Given the description of an element on the screen output the (x, y) to click on. 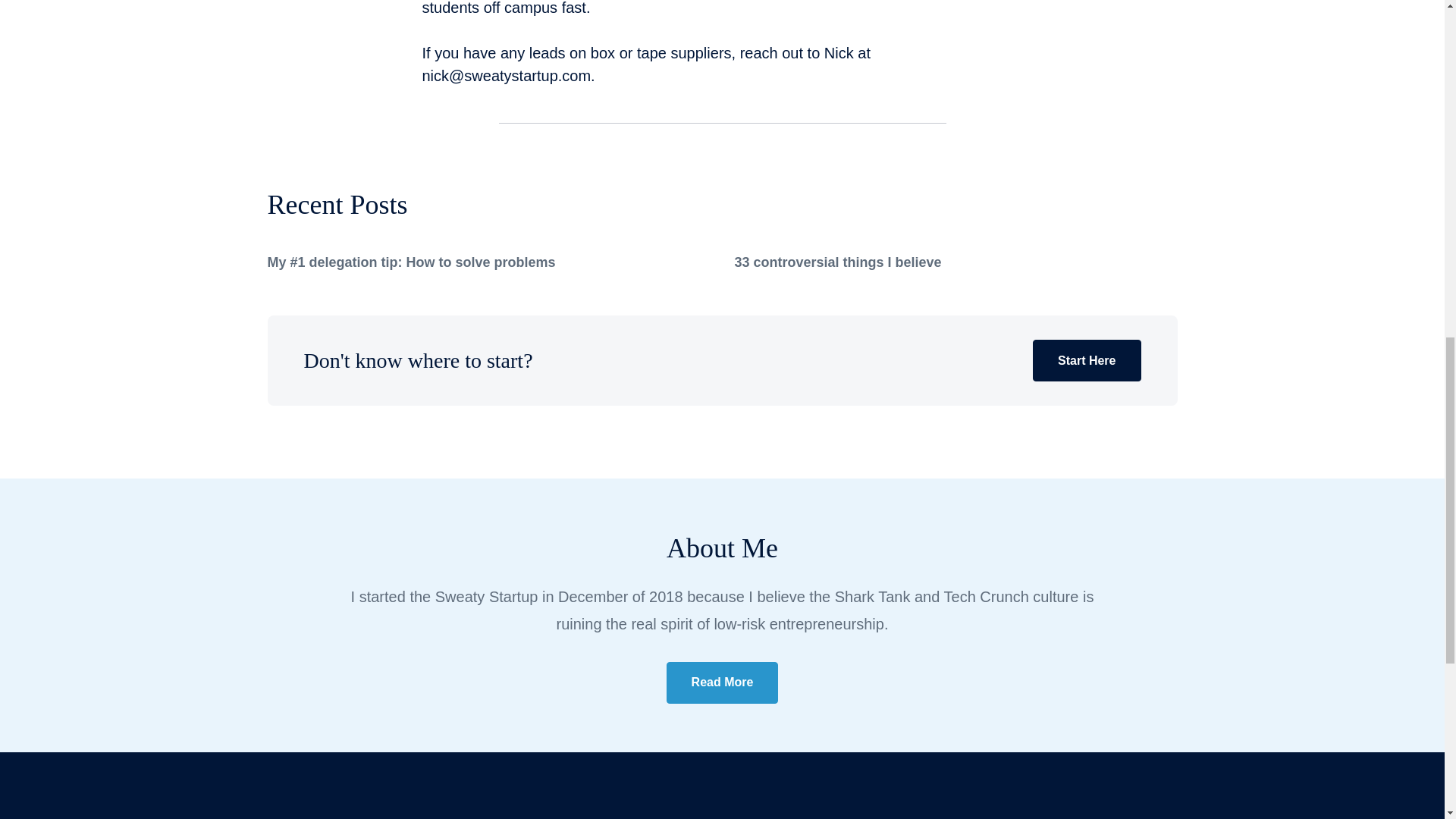
33 controversial things I believe (836, 262)
Start Here (1086, 360)
Read More (722, 682)
